Given the description of an element on the screen output the (x, y) to click on. 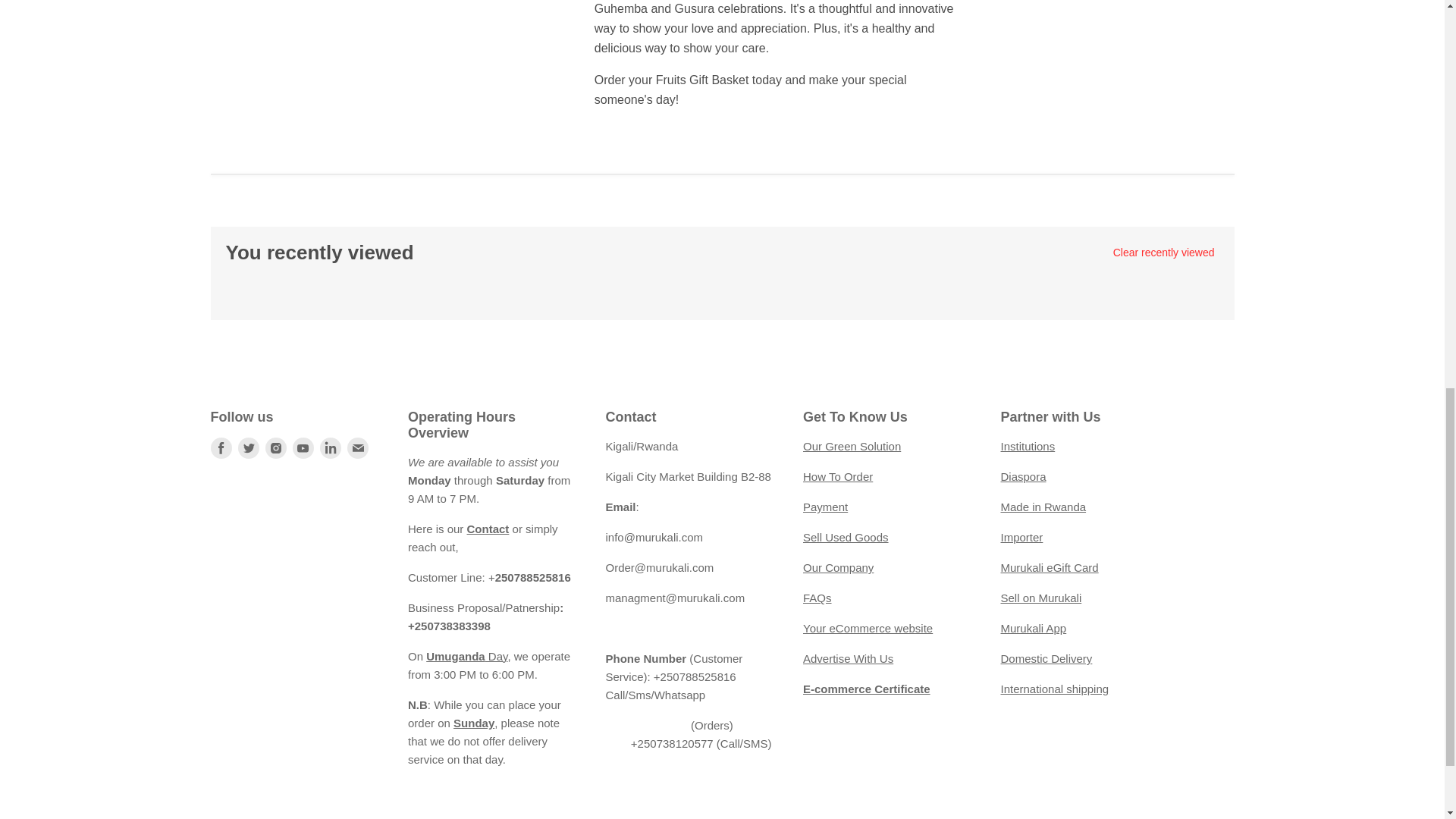
Youtube (303, 447)
How to order (837, 476)
Instagram (275, 447)
Our Company (838, 567)
Drive Market Reach and Boost Sales with Murukali.com (848, 658)
Facebook (221, 447)
Payment (825, 506)
Turn Your Used Goods into Cash (845, 536)
Twitter (248, 447)
FAQs (817, 597)
